Given the description of an element on the screen output the (x, y) to click on. 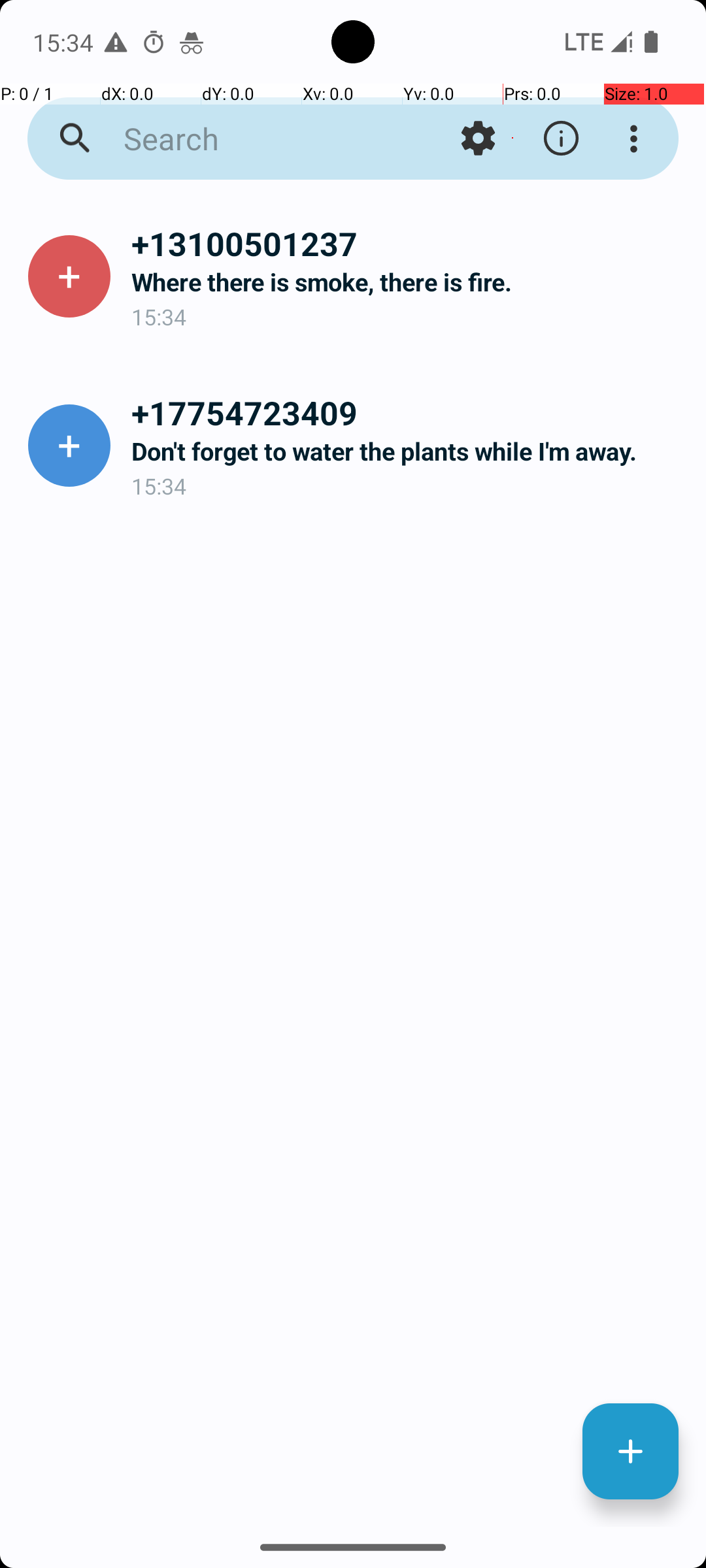
+13100501237 Element type: android.widget.TextView (408, 242)
Where there is smoke, there is fire. Element type: android.widget.TextView (408, 281)
+17754723409 Element type: android.widget.TextView (408, 412)
Don't forget to water the plants while I'm away. Element type: android.widget.TextView (408, 450)
